Given the description of an element on the screen output the (x, y) to click on. 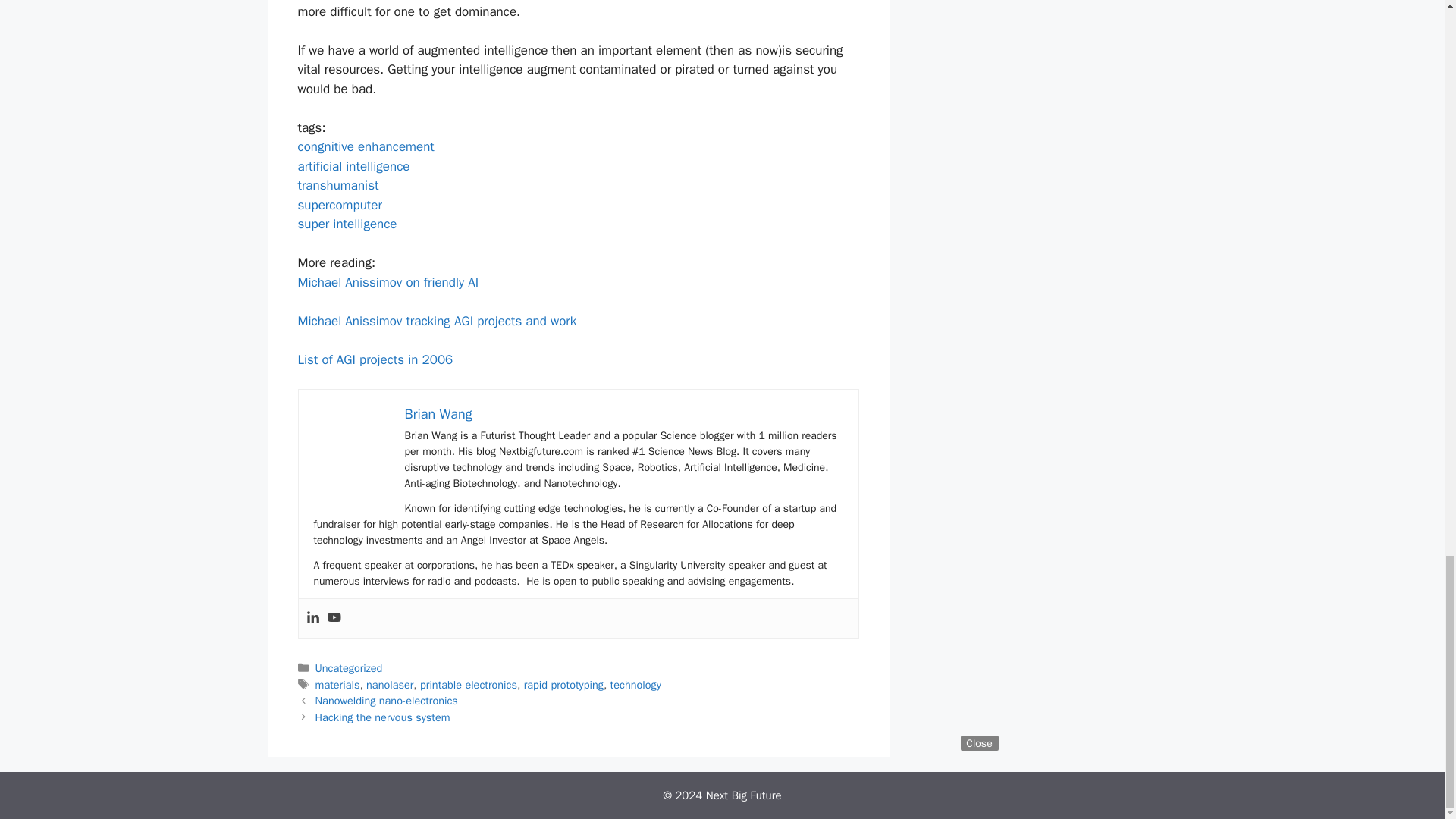
transhumanist (337, 185)
super intelligence (346, 223)
congnitive enhancement (365, 146)
supercomputer (339, 204)
artificial intelligence (353, 166)
